Given the description of an element on the screen output the (x, y) to click on. 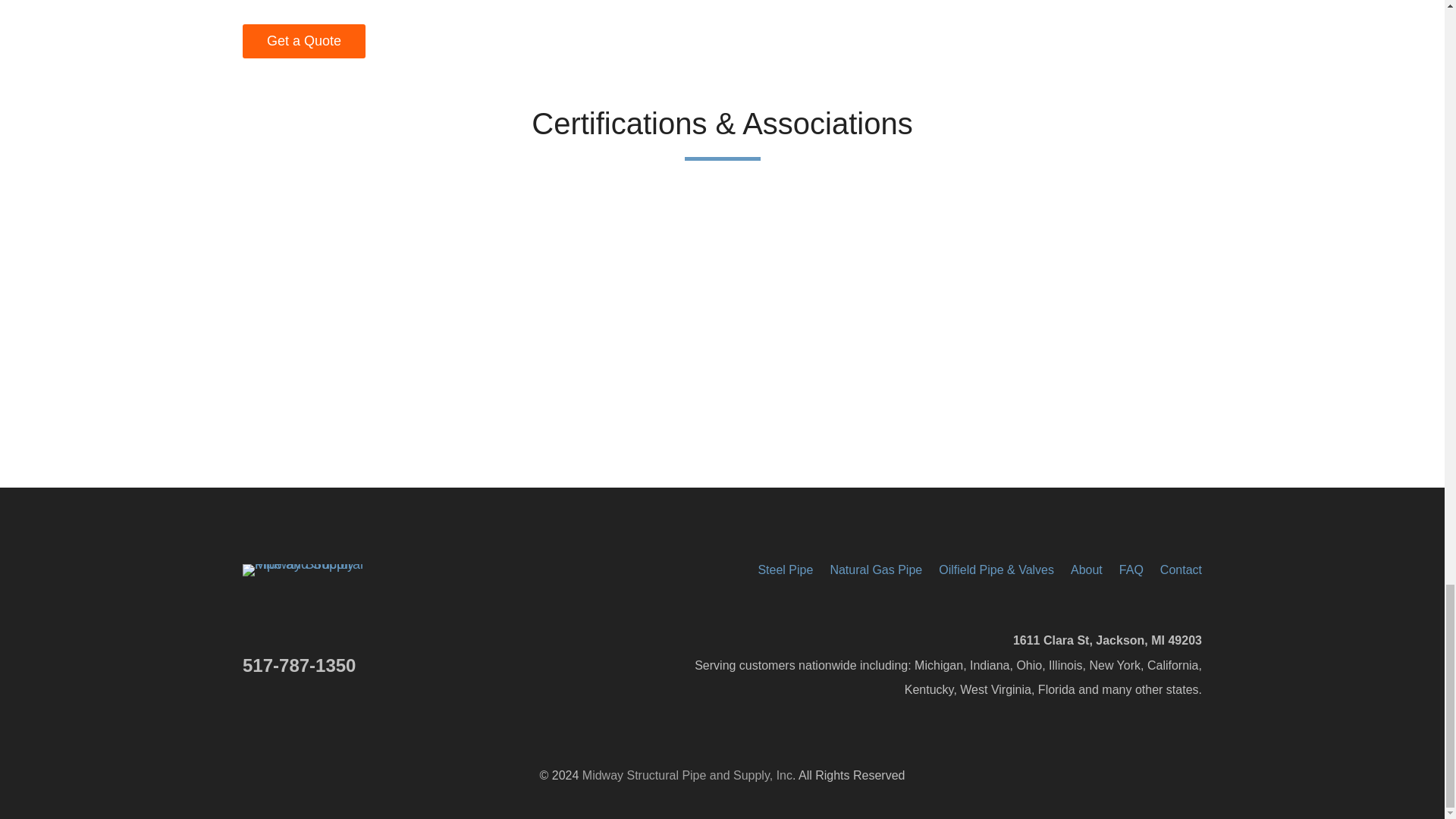
Midway Structural Pipe and Supply (318, 570)
